Given the description of an element on the screen output the (x, y) to click on. 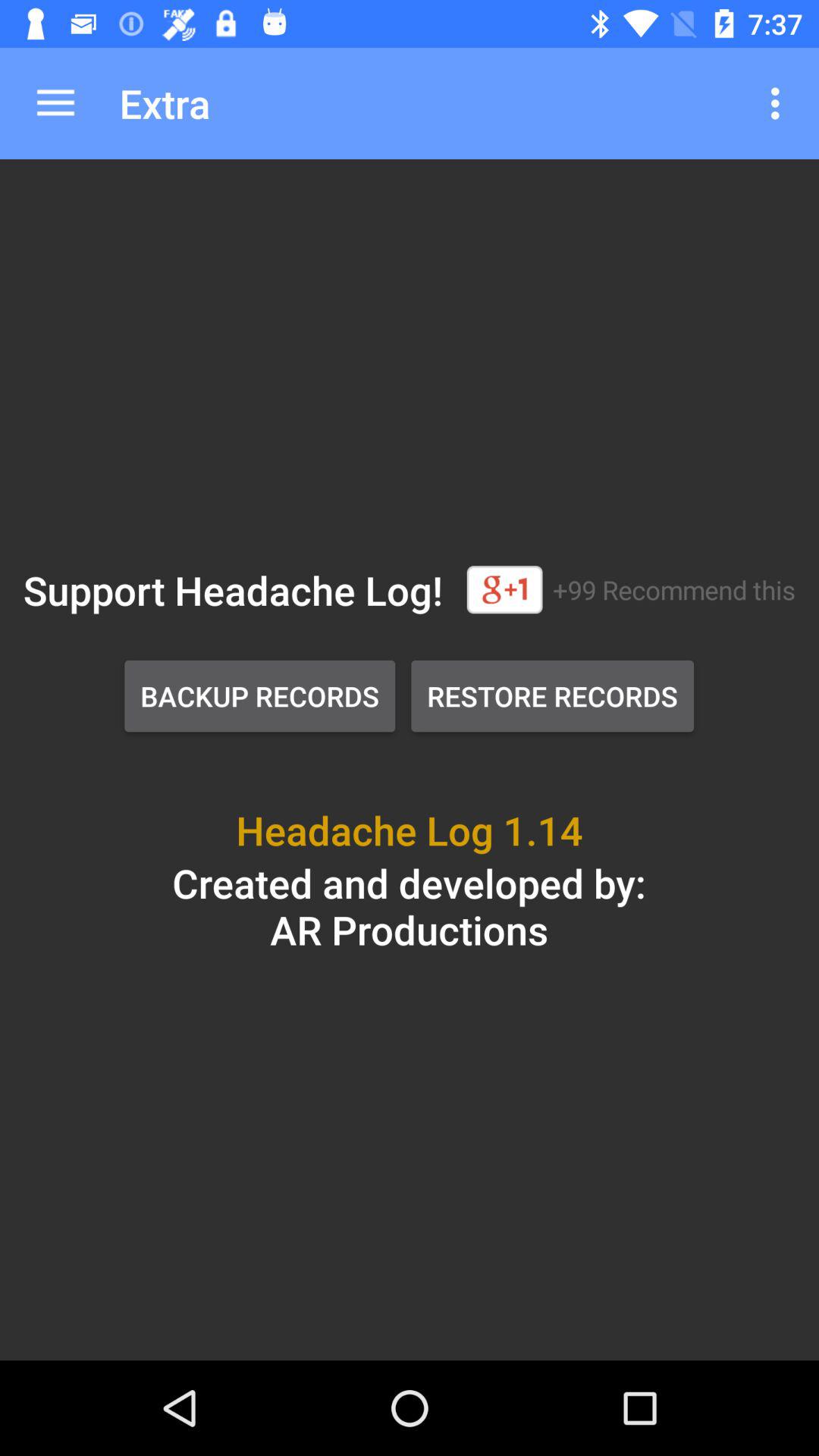
turn off the restore records icon (552, 695)
